Given the description of an element on the screen output the (x, y) to click on. 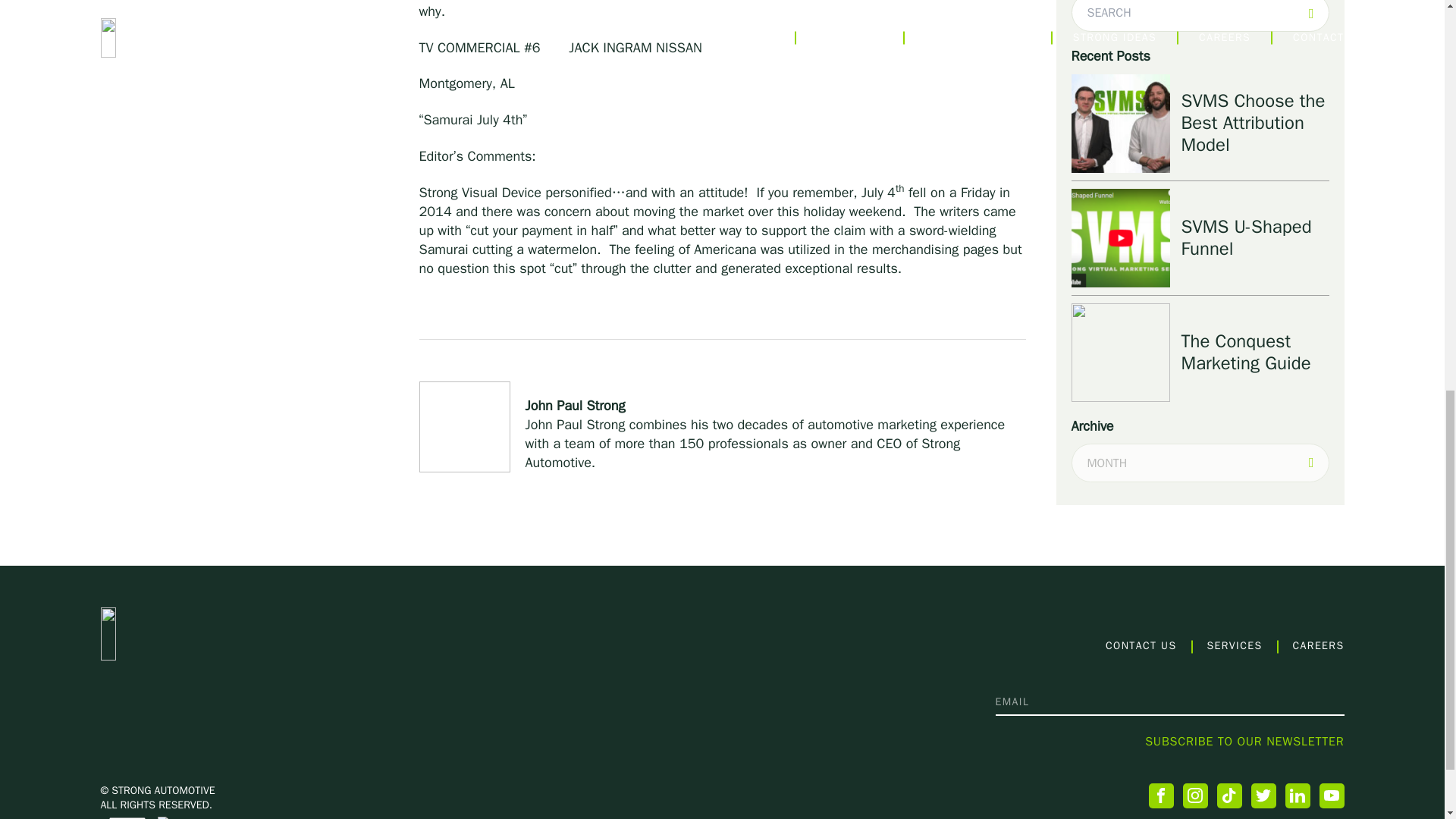
LinkedIn (1296, 795)
Facebook (1160, 795)
Instagram (1195, 795)
Google Premier Partner (126, 817)
Youtube (1331, 795)
Twitter (1263, 795)
Meta Partner (176, 817)
TikTok (1228, 795)
Strong Automotive (204, 633)
